Given the description of an element on the screen output the (x, y) to click on. 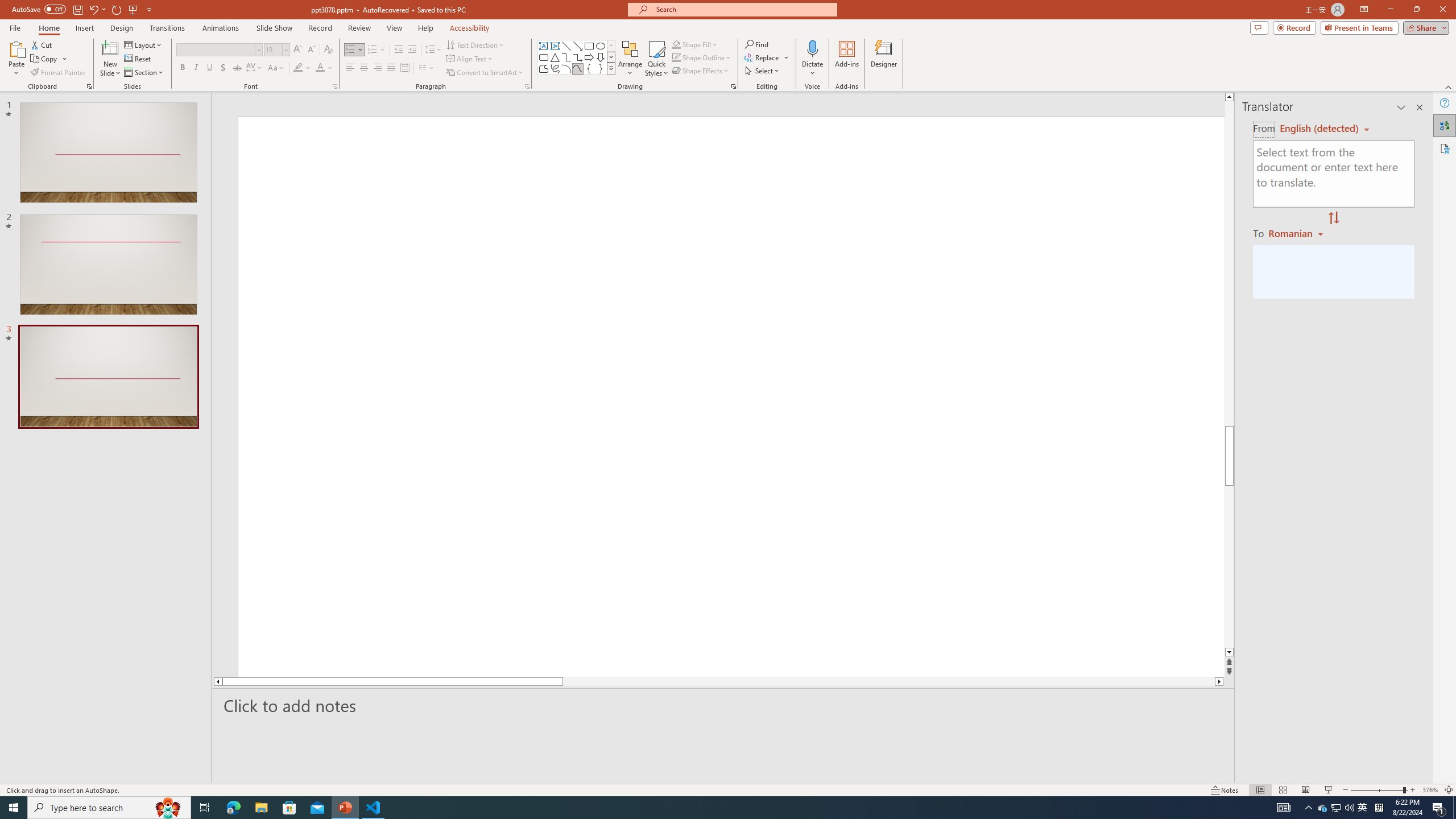
Romanian (1296, 232)
Swap "from" and "to" languages. (1333, 218)
